Given the description of an element on the screen output the (x, y) to click on. 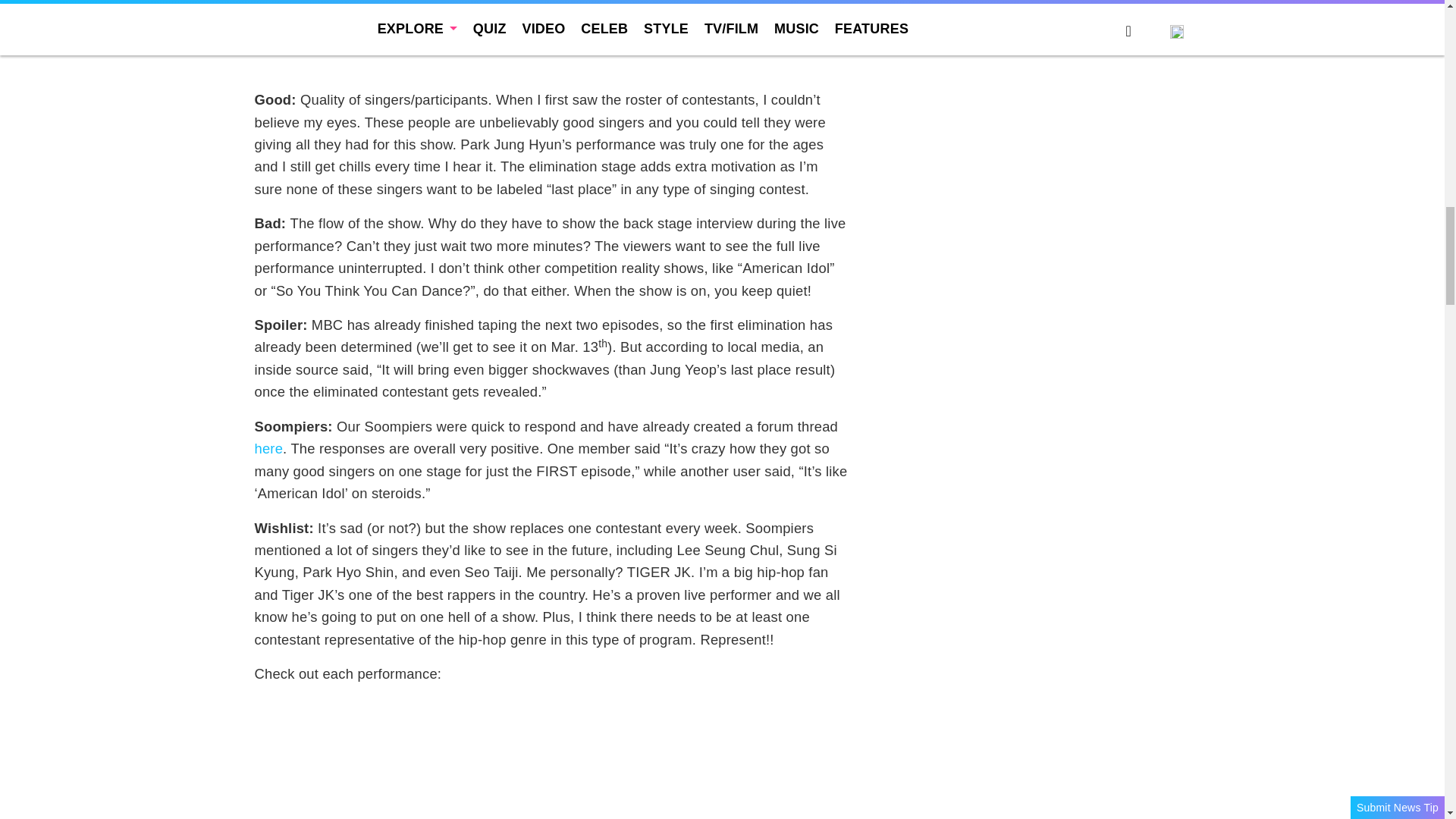
here (268, 448)
